Given the description of an element on the screen output the (x, y) to click on. 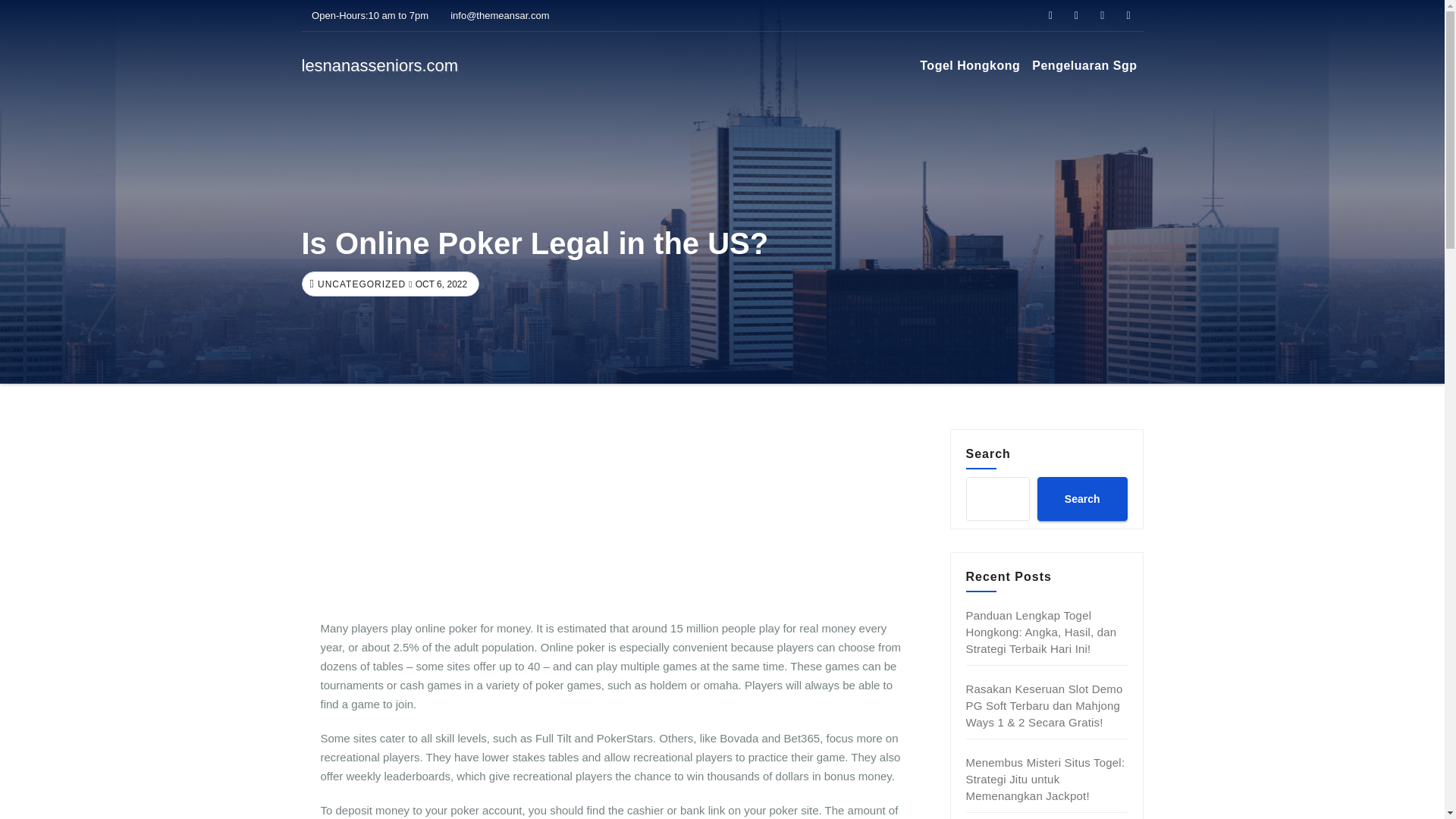
UNCATEGORIZED (360, 284)
Search (1081, 498)
Open-Hours:10 am to 7pm (365, 15)
lesnanasseniors.com (379, 65)
Togel Hongkong (970, 65)
Pengeluaran Sgp (1084, 65)
Togel Hongkong (970, 65)
pengeluaran sgp (1084, 65)
